Given the description of an element on the screen output the (x, y) to click on. 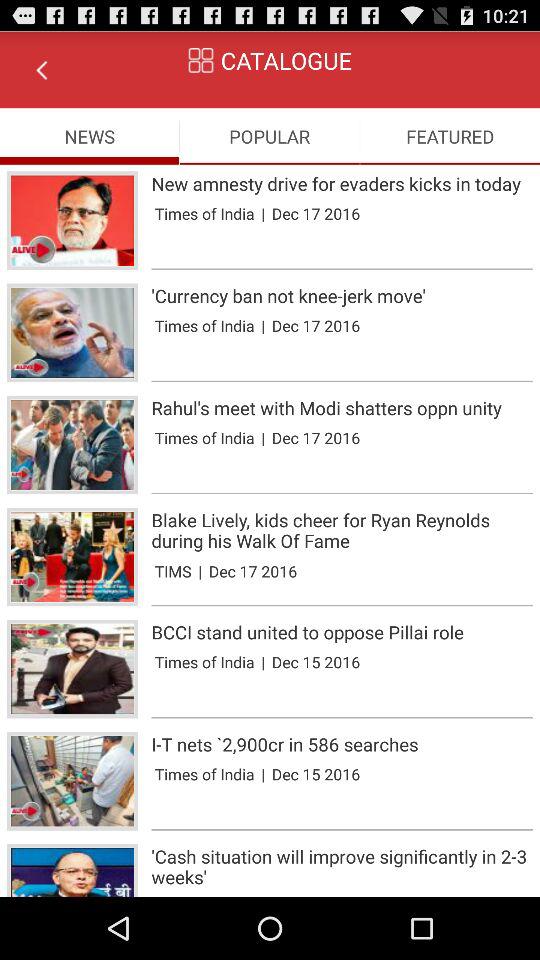
select item above news icon (41, 69)
